Given the description of an element on the screen output the (x, y) to click on. 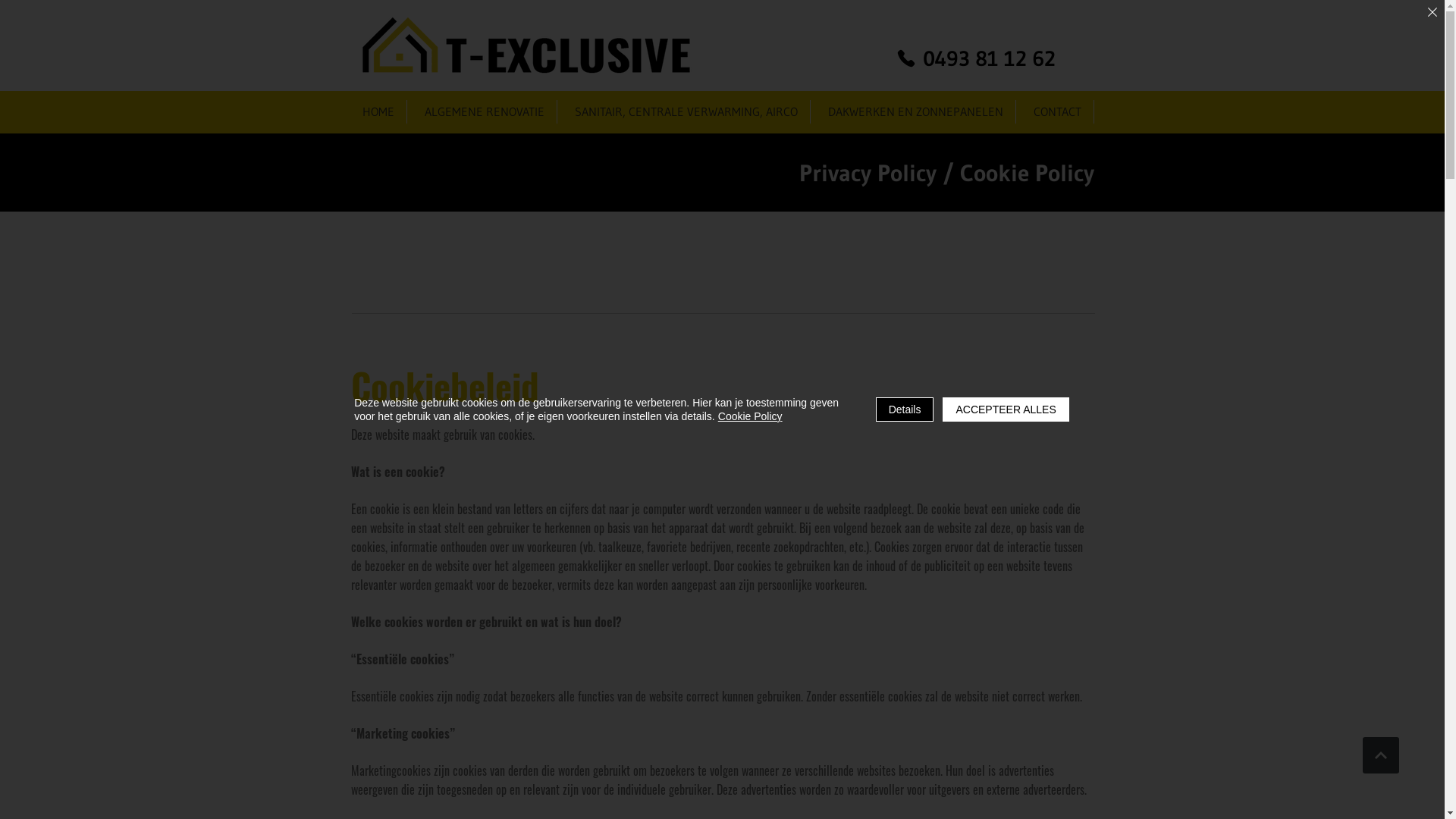
Cookie Policy Element type: text (750, 416)
CONTACT Element type: text (1058, 112)
HOME Element type: text (378, 112)
ACCEPTEER ALLES Element type: text (1005, 409)
SANITAIR, CENTRALE VERWARMING, AIRCO Element type: text (685, 112)
Details Element type: text (904, 409)
0493 81 12 62 Element type: text (974, 58)
ALGEMENE RENOVATIE Element type: text (484, 112)
DAKWERKEN EN ZONNEPANELEN Element type: text (915, 112)
